Given the description of an element on the screen output the (x, y) to click on. 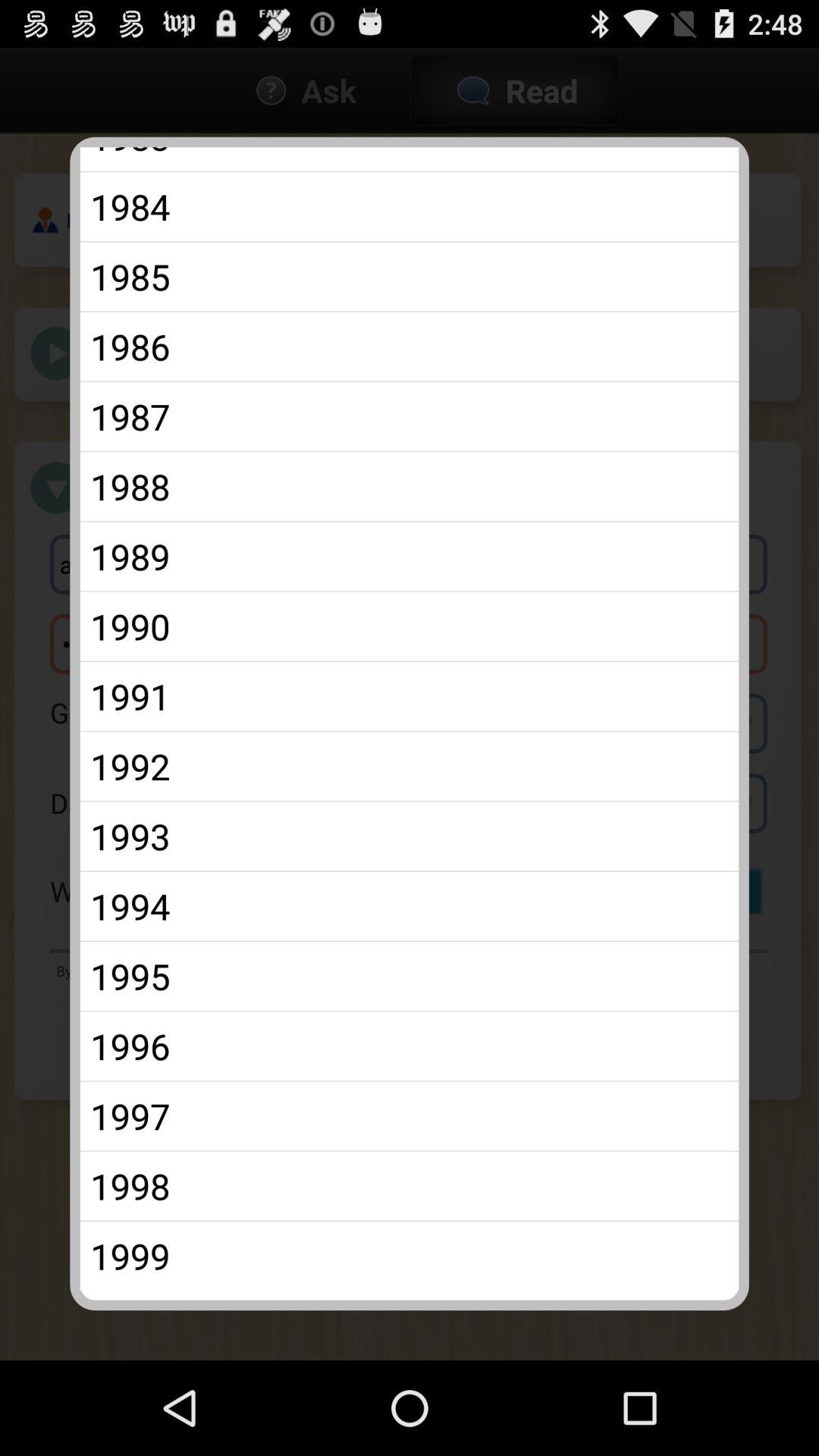
swipe to 1998 item (409, 1185)
